Given the description of an element on the screen output the (x, y) to click on. 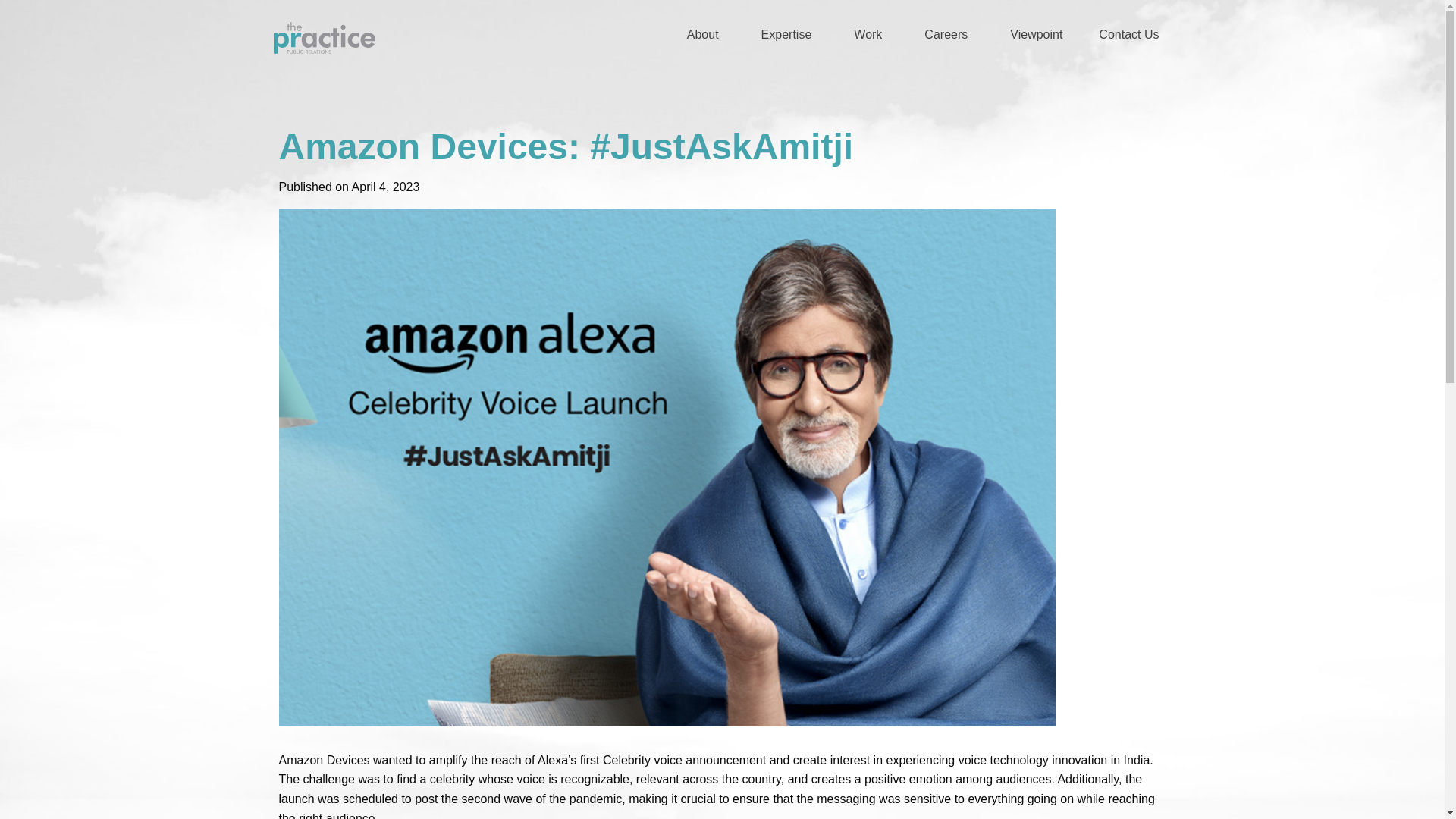
Expertise (789, 37)
Contact Us (1128, 37)
Viewpoint (1035, 37)
Careers (948, 37)
About (705, 37)
Work (870, 37)
